Given the description of an element on the screen output the (x, y) to click on. 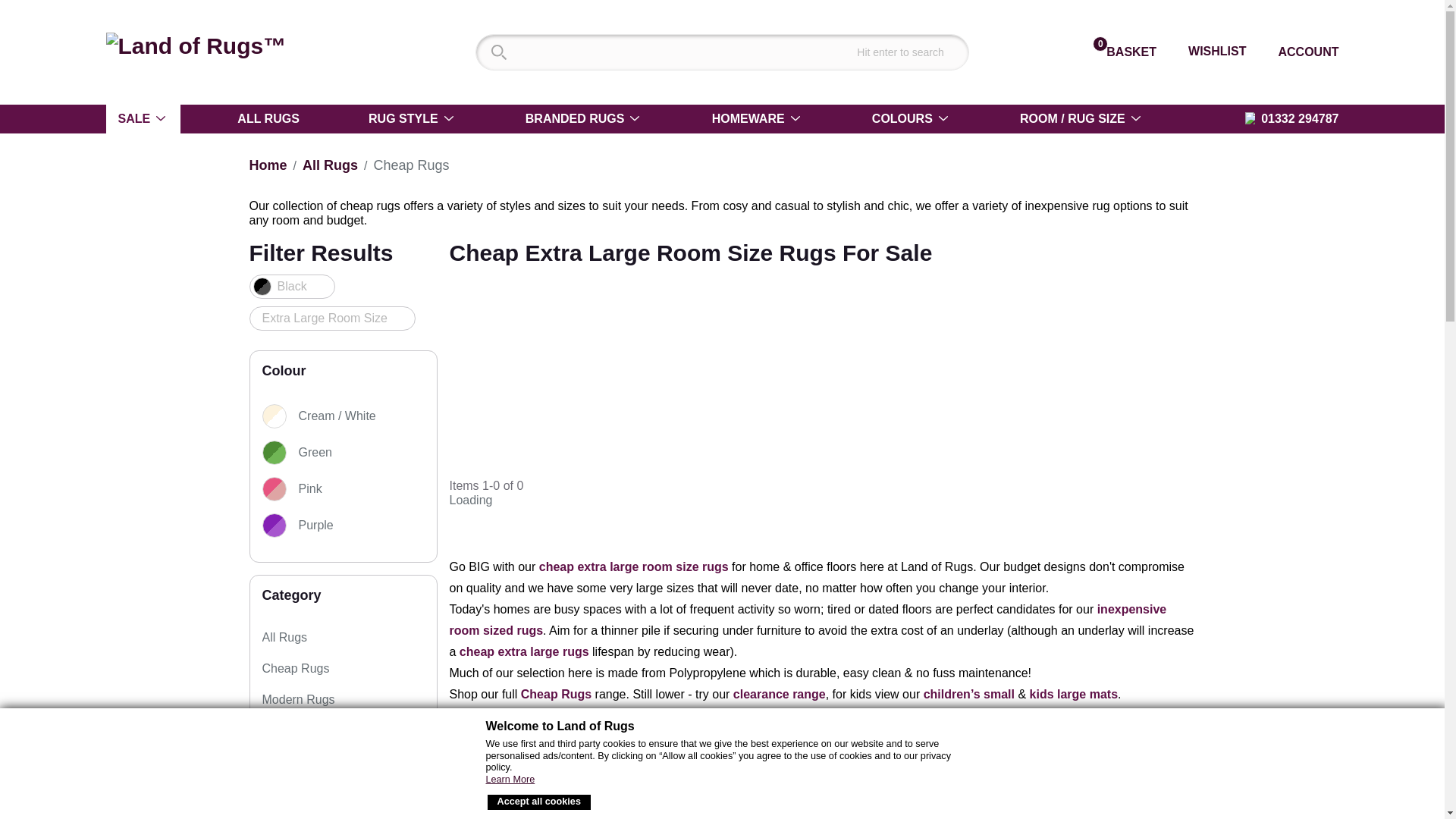
01332 294787 (1291, 118)
Black (291, 286)
pink (343, 488)
COLOURS (911, 118)
red (341, 561)
SALE (1120, 52)
RUG STYLE (143, 118)
BRANDED RUGS (412, 118)
Home (584, 118)
HOMEWARE (267, 165)
ACCOUNT (757, 118)
green (1299, 52)
WISHLIST (352, 452)
purple (1207, 51)
